Given the description of an element on the screen output the (x, y) to click on. 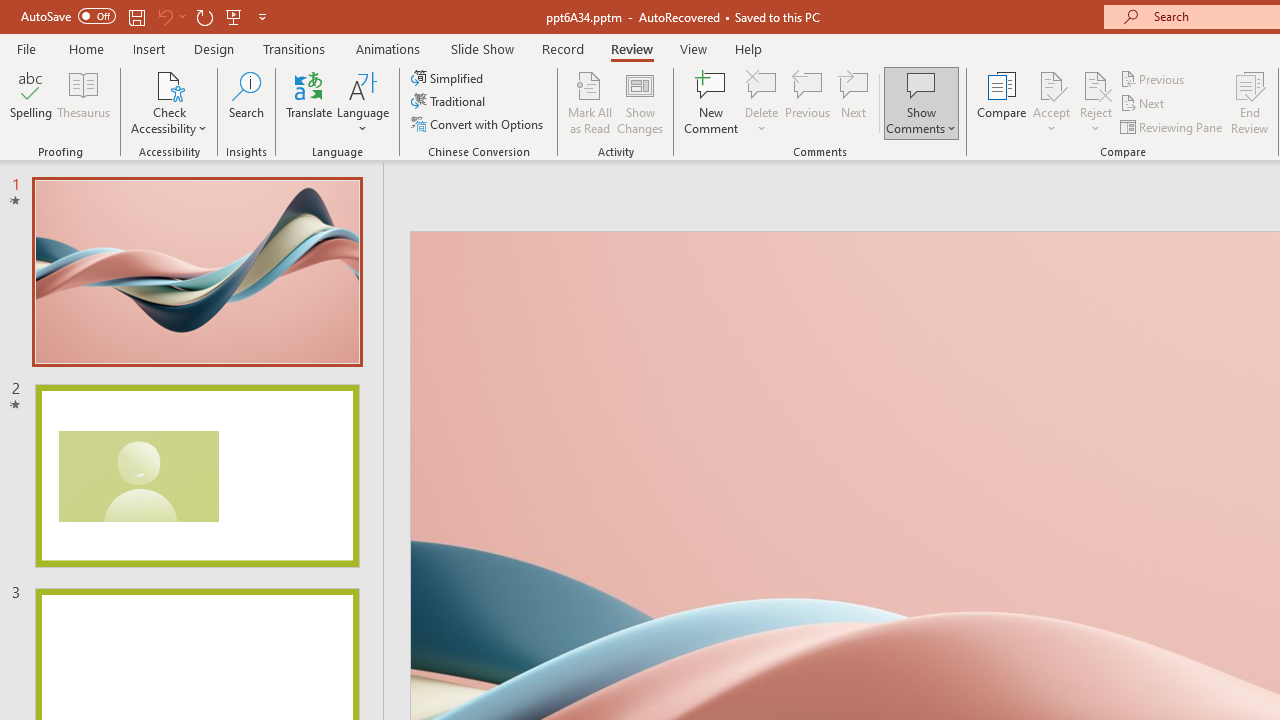
Thesaurus... (83, 102)
Simplified (449, 78)
Delete (762, 102)
Language (363, 102)
Show Comments (921, 84)
Spelling... (31, 102)
Compare (1002, 102)
Reviewing Pane (1172, 126)
Mark All as Read (589, 102)
